Given the description of an element on the screen output the (x, y) to click on. 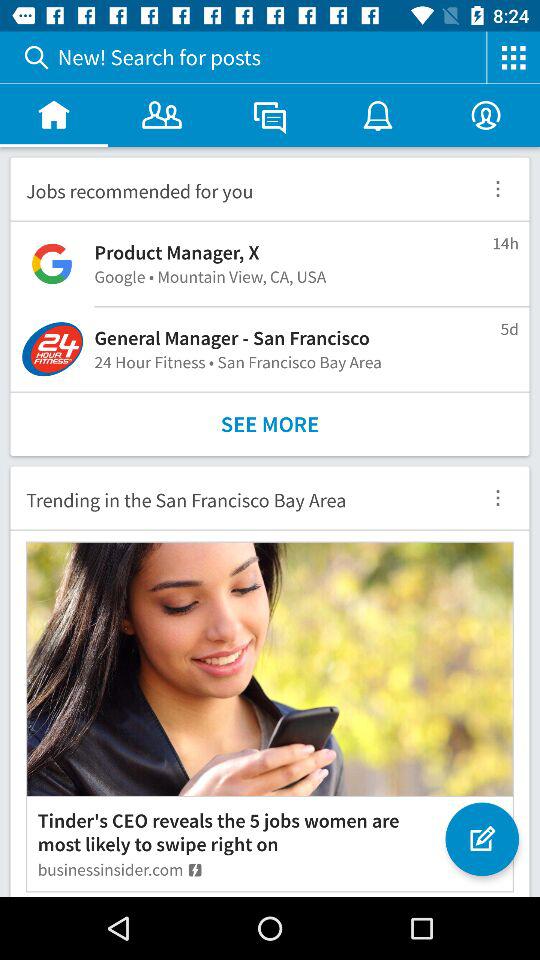
click the jobs recommended for (238, 188)
